Given the description of an element on the screen output the (x, y) to click on. 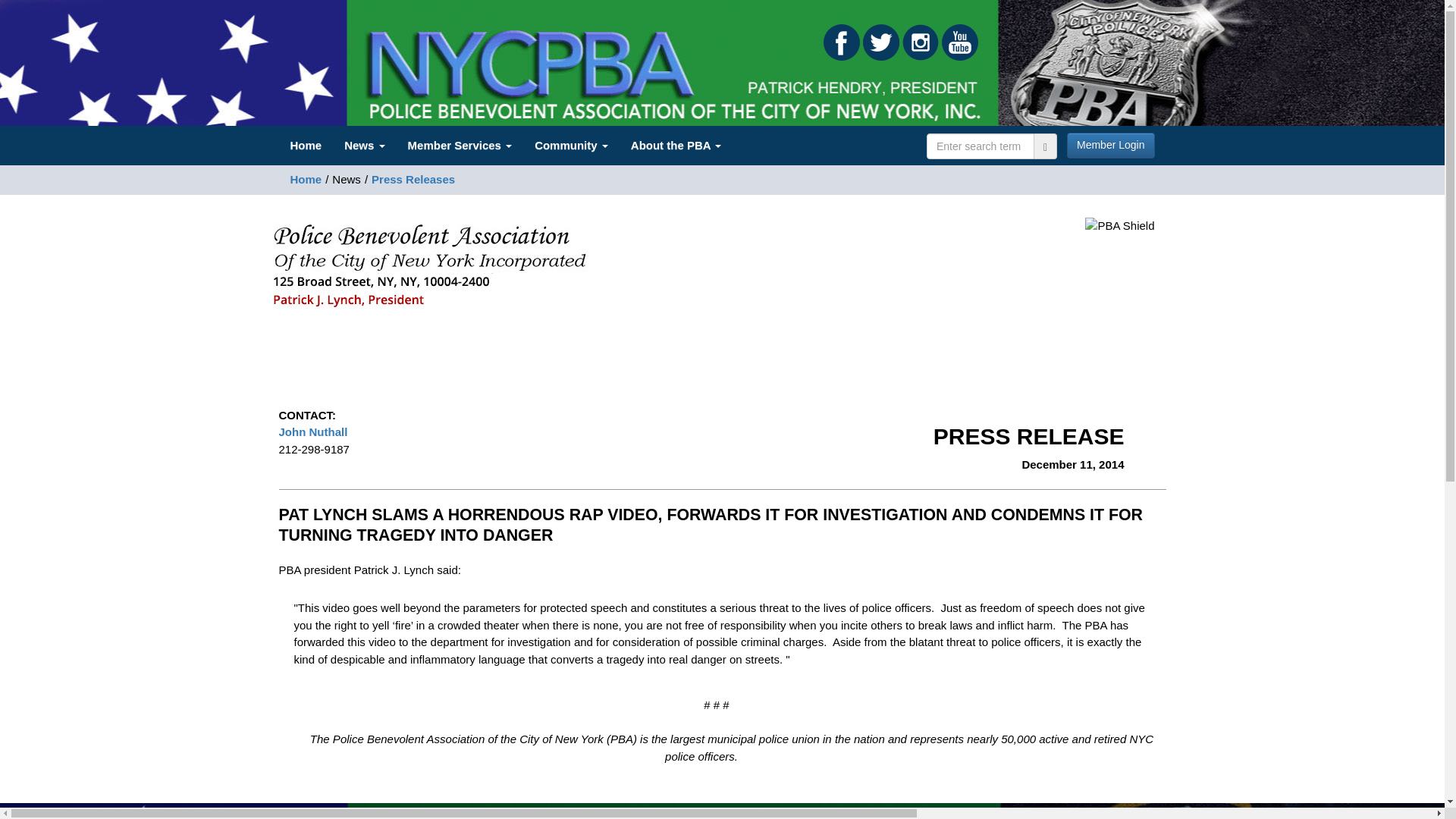
Member Services (460, 145)
News (364, 145)
Home (306, 145)
